Given the description of an element on the screen output the (x, y) to click on. 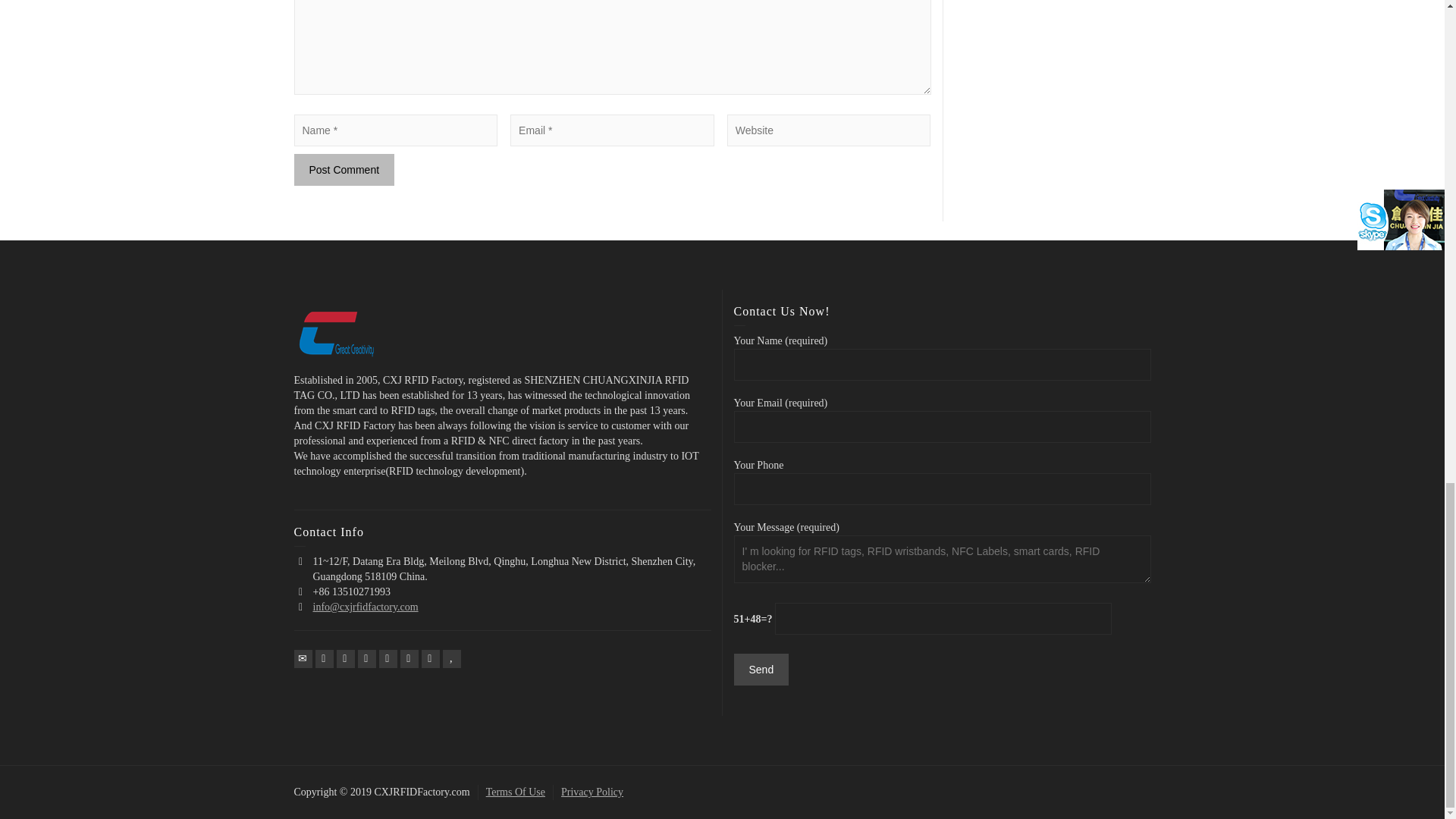
Post Comment (344, 169)
Send (761, 669)
